Given the description of an element on the screen output the (x, y) to click on. 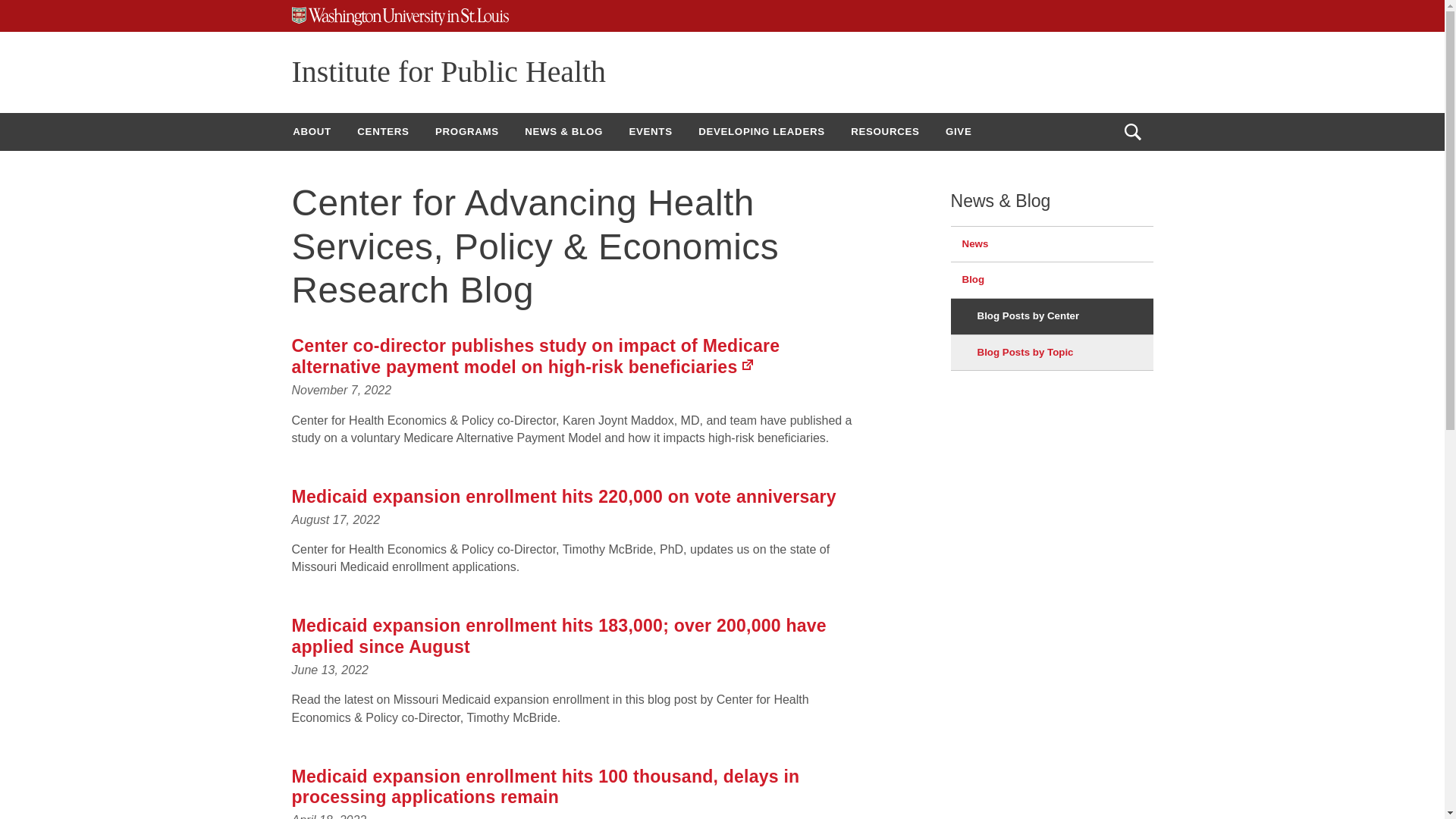
CENTERS (383, 131)
Institute for Public Health (448, 71)
PROGRAMS (467, 131)
ABOUT (311, 131)
EVENTS (649, 131)
